Given the description of an element on the screen output the (x, y) to click on. 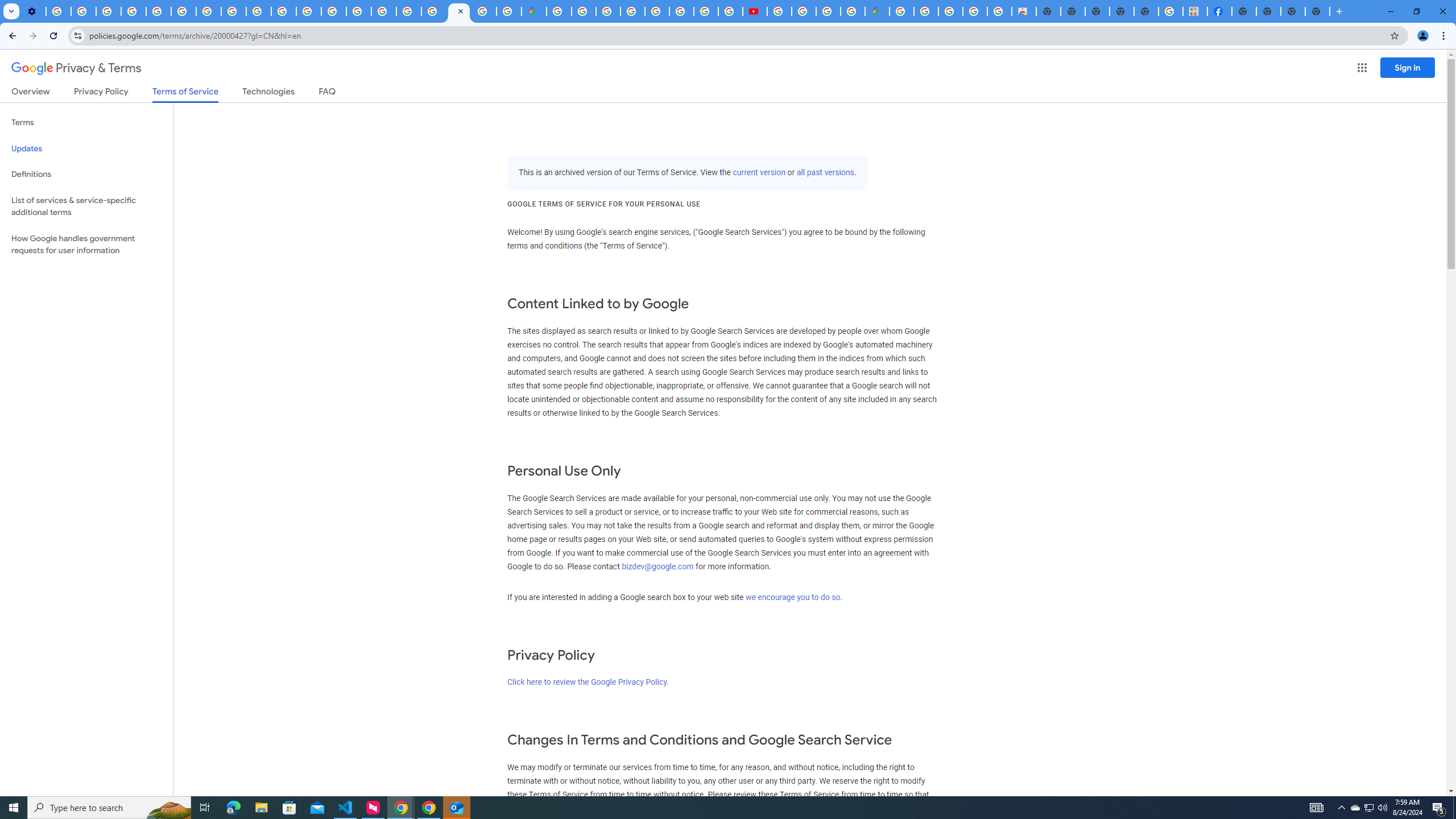
Terms and Conditions (656, 11)
Privacy Help Center - Policies Help (705, 11)
https://scholar.google.com/ (308, 11)
